Given the description of an element on the screen output the (x, y) to click on. 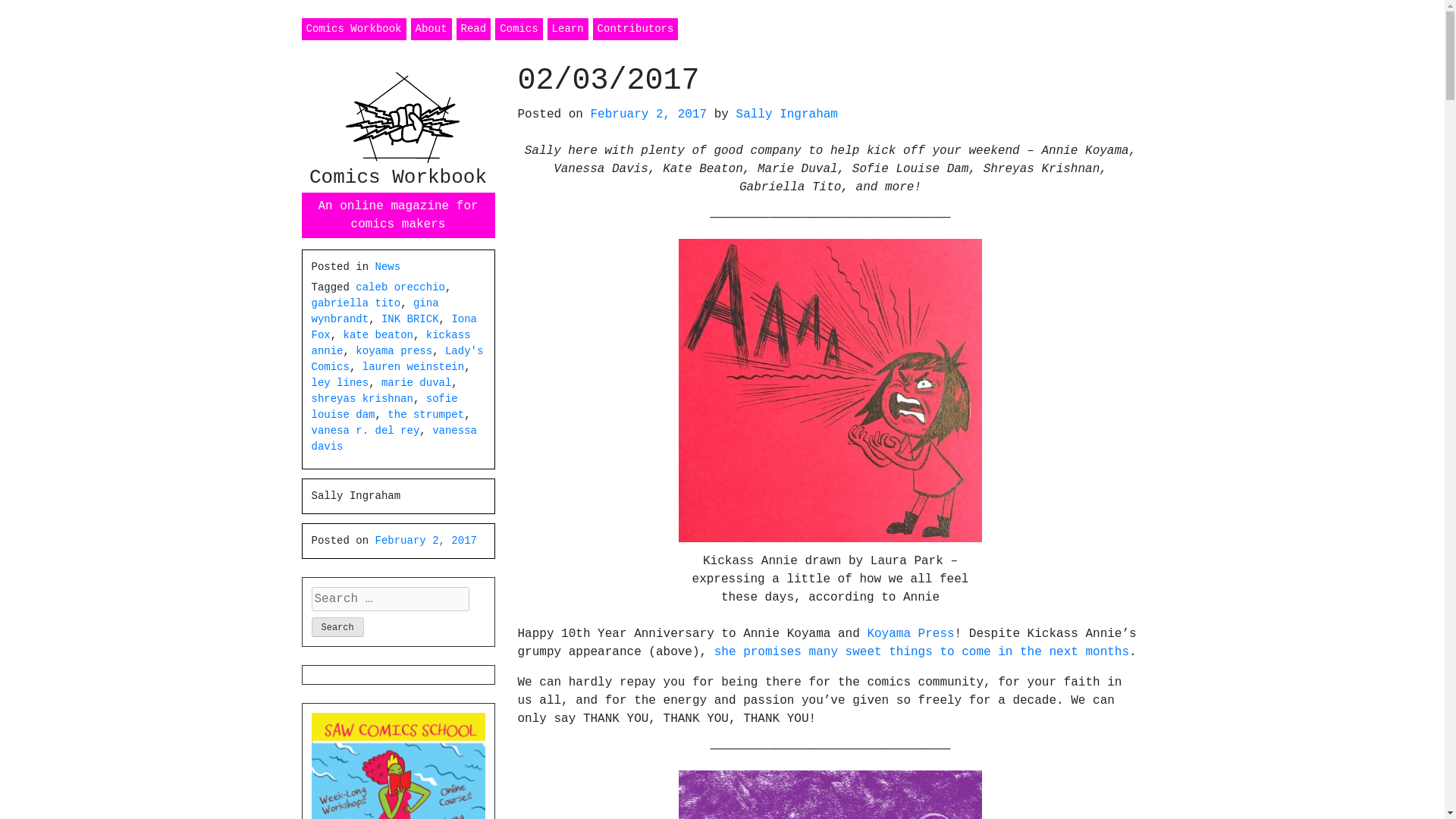
Search (336, 627)
Comics Workbook (353, 29)
kate beaton (378, 335)
marie duval (416, 382)
caleb orecchio (400, 287)
News (388, 266)
ley lines (339, 382)
Learn (567, 29)
Lady's Comics (397, 358)
